Given the description of an element on the screen output the (x, y) to click on. 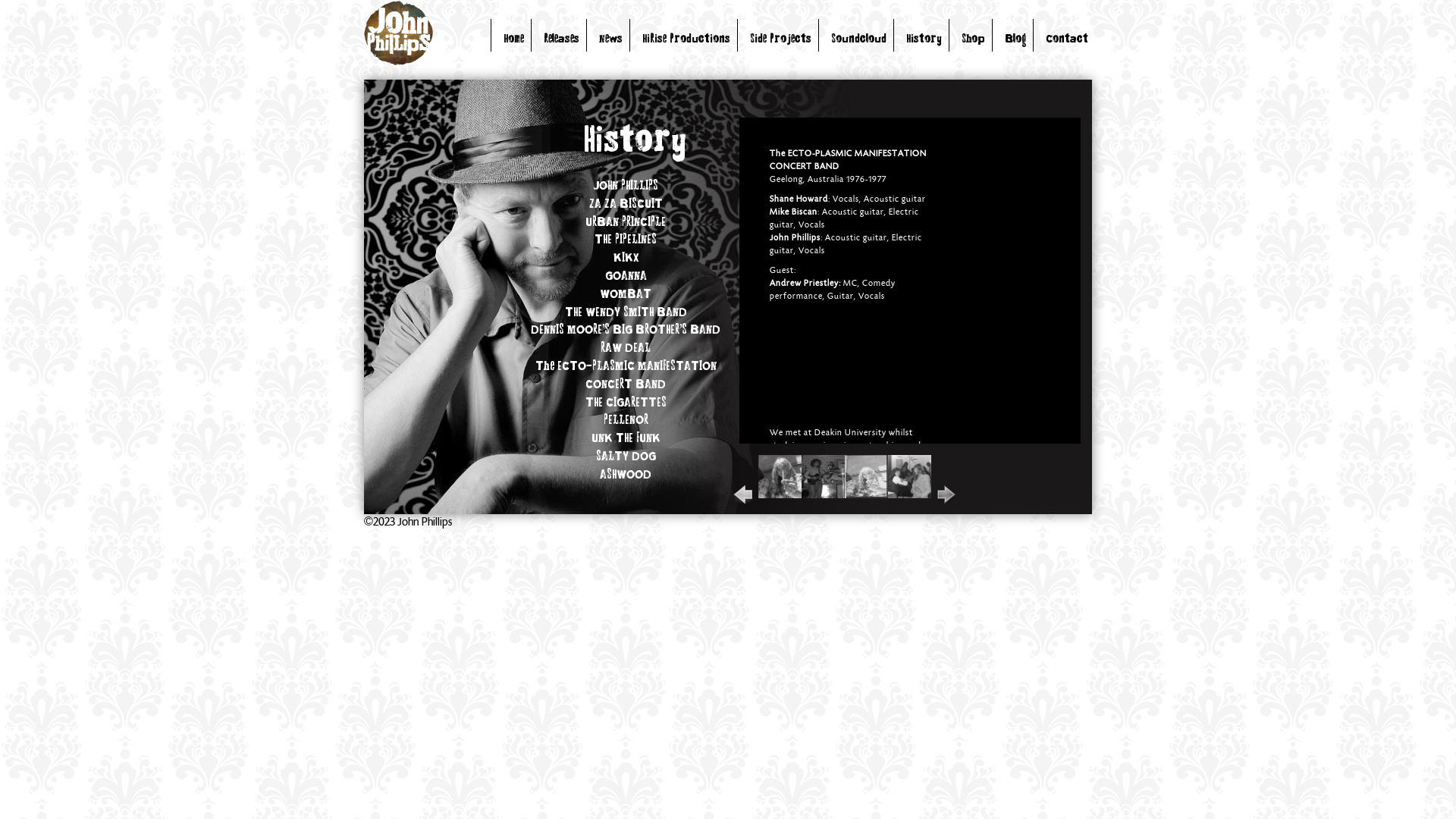
THE CIGARETTES Element type: text (625, 403)
Side Projects Element type: text (780, 39)
Releases Element type: text (561, 39)
Blog Element type: text (1015, 39)
History Element type: text (923, 39)
ASHWOOD Element type: text (625, 475)
YouTube video player Element type: hover (845, 364)
JOHN PHILLIPS Element type: text (625, 186)
Home Element type: text (513, 39)
Shop Element type: text (973, 39)
GOANNA Element type: text (625, 276)
PELLENOR Element type: text (625, 420)
News Element type: text (610, 39)
UNK THE FUNK Element type: text (625, 438)
THE WENDY SMITH BAND Element type: text (625, 312)
WOMBAT Element type: text (625, 294)
Soundcloud Element type: text (858, 39)
Contact Element type: text (1066, 39)
ZA ZA BISCUIT Element type: text (625, 204)
KIKX Element type: text (624, 258)
HiRise Productions Element type: text (686, 39)
SALTY DOG Element type: text (625, 456)
RAW DEAL Element type: text (625, 348)
The ECTO-PLASMIC MANIFESTATION CONCERT BAND Element type: text (625, 375)
URBAN PRINCIPLE Element type: text (625, 222)
THE PIPELINES Element type: text (625, 240)
